Given the description of an element on the screen output the (x, y) to click on. 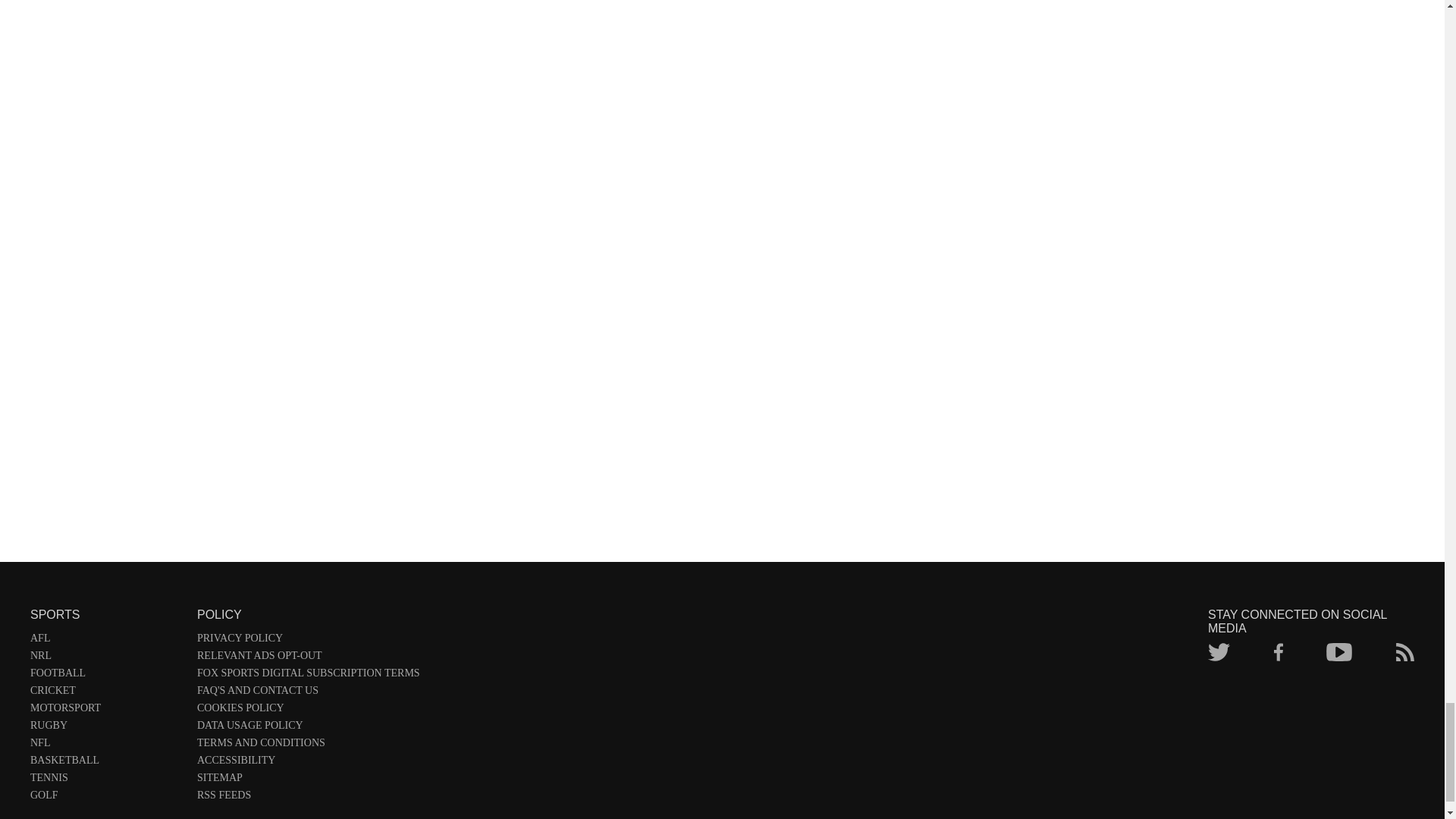
AFL (106, 641)
NRL (106, 658)
ACCESSIBILITY (308, 763)
TENNIS (106, 780)
SITEMAP (308, 780)
NFL (106, 745)
CRICKET (106, 692)
DATA USAGE POLICY (308, 728)
FOOTBALL (106, 675)
COOKIES POLICY (308, 710)
